Given the description of an element on the screen output the (x, y) to click on. 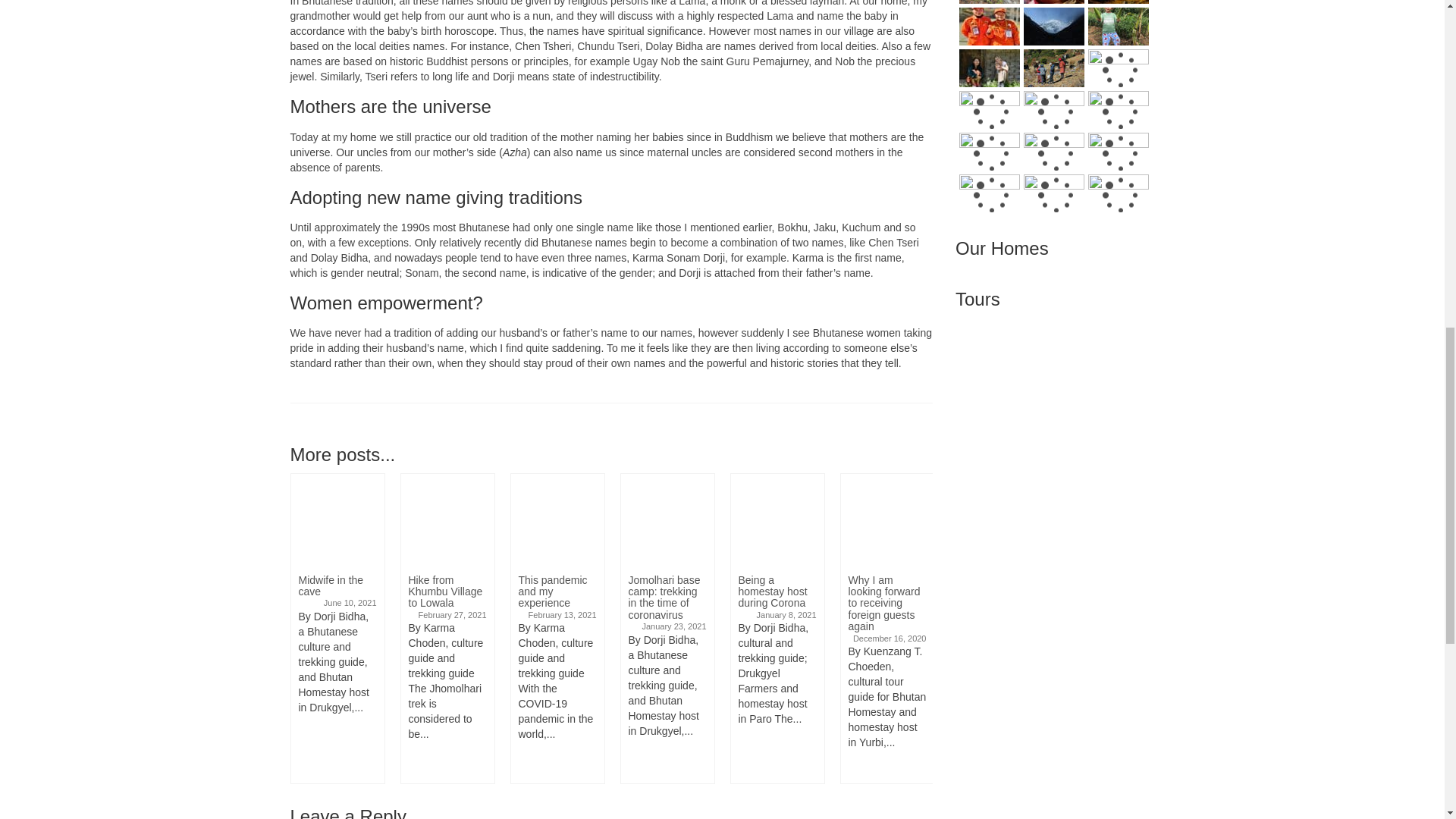
This pandemic and my experience (557, 520)
Being a homestay host during Corona (777, 520)
Why I am looking forward to receiving foreign guests again (886, 520)
Jomolhari base camp: trekking in the time of coronavirus (666, 520)
Midwife in the cave (337, 520)
Hike from Khumbu Village to Lowala (446, 520)
